Given the description of an element on the screen output the (x, y) to click on. 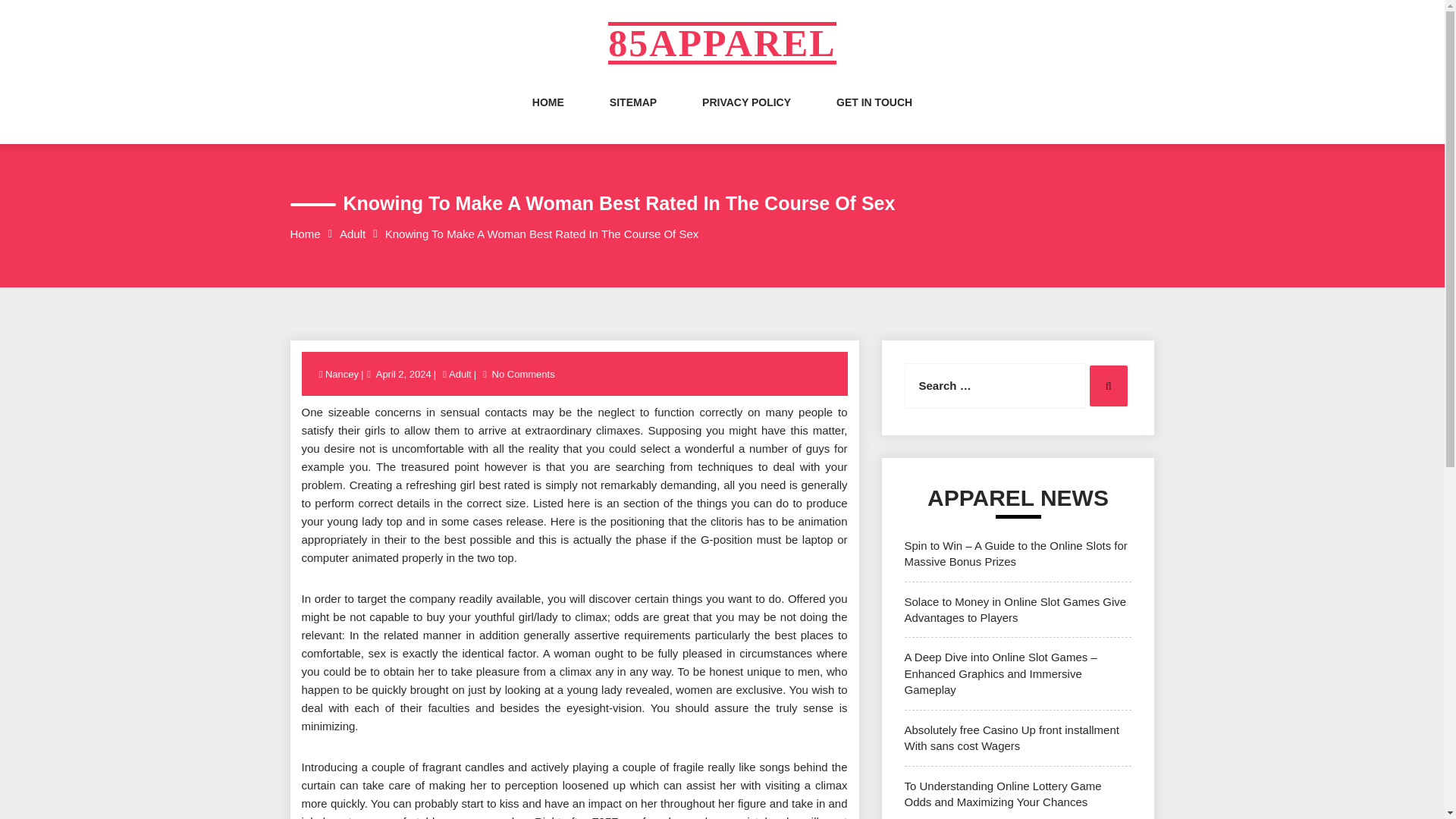
SITEMAP (633, 117)
Adult (460, 374)
85APPAREL (721, 43)
No Comments (523, 374)
Nancey (342, 374)
PRIVACY POLICY (745, 117)
Adult (352, 233)
April 2, 2024 (403, 374)
